Given the description of an element on the screen output the (x, y) to click on. 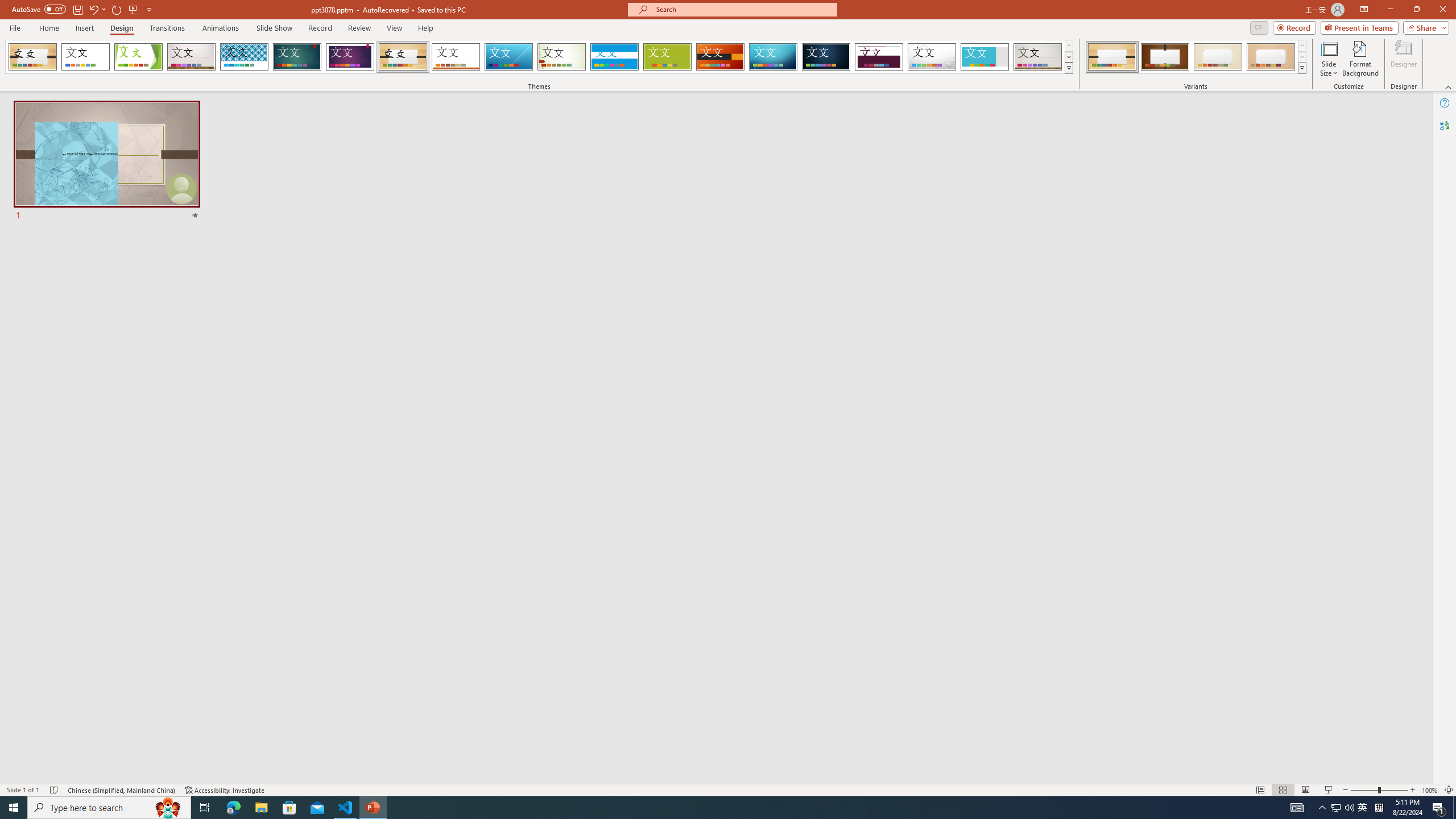
Ion (296, 56)
Ion Boardroom (350, 56)
Organic Variant 4 (1270, 56)
Wisp (561, 56)
